Given the description of an element on the screen output the (x, y) to click on. 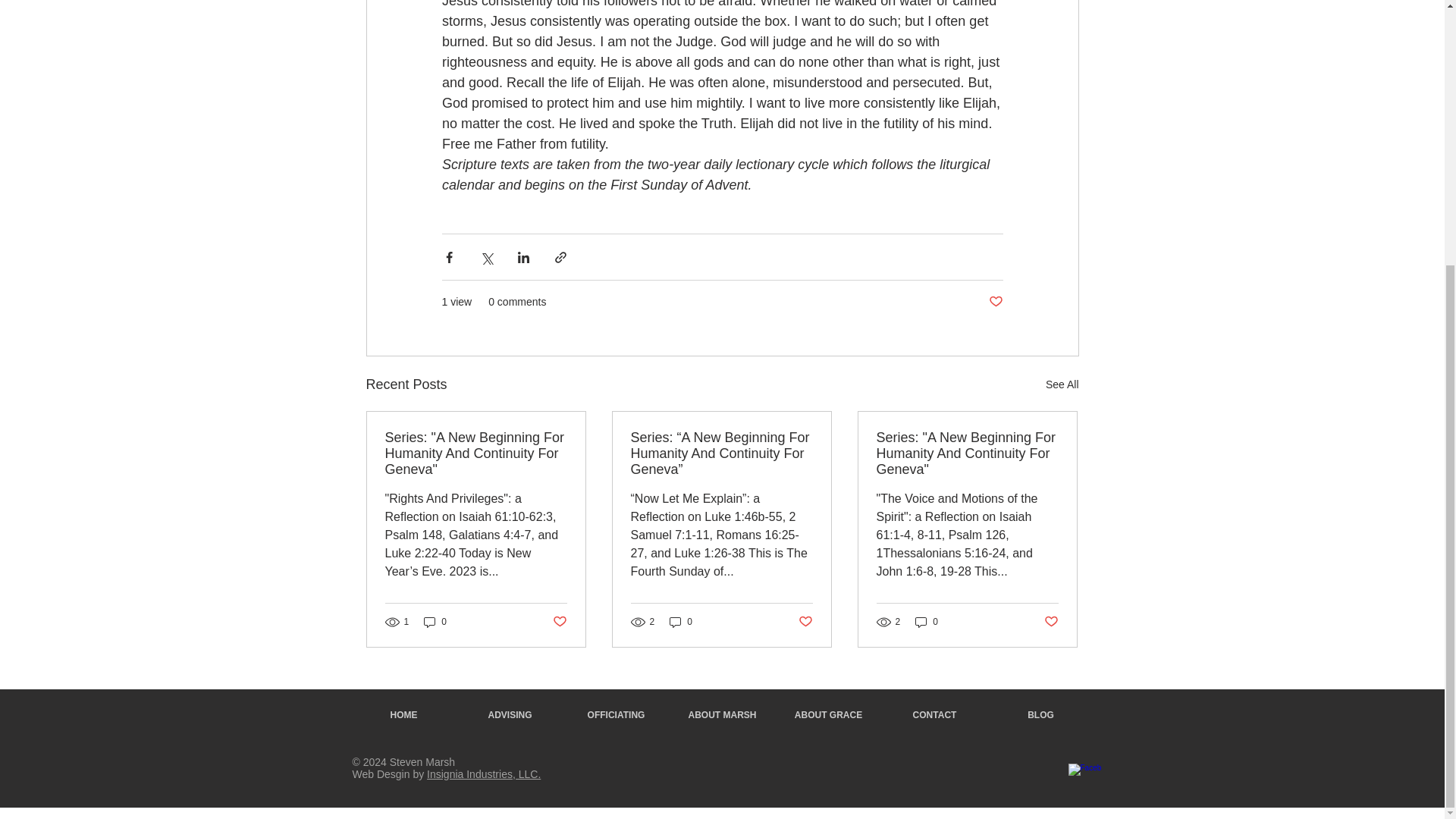
HOME (403, 714)
See All (1061, 384)
Post not marked as liked (558, 621)
ABOUT MARSH (721, 714)
0 (681, 622)
0 (926, 622)
OFFICIATING (615, 714)
ADVISING (509, 714)
Insignia Industries, LLC. (483, 774)
